Given the description of an element on the screen output the (x, y) to click on. 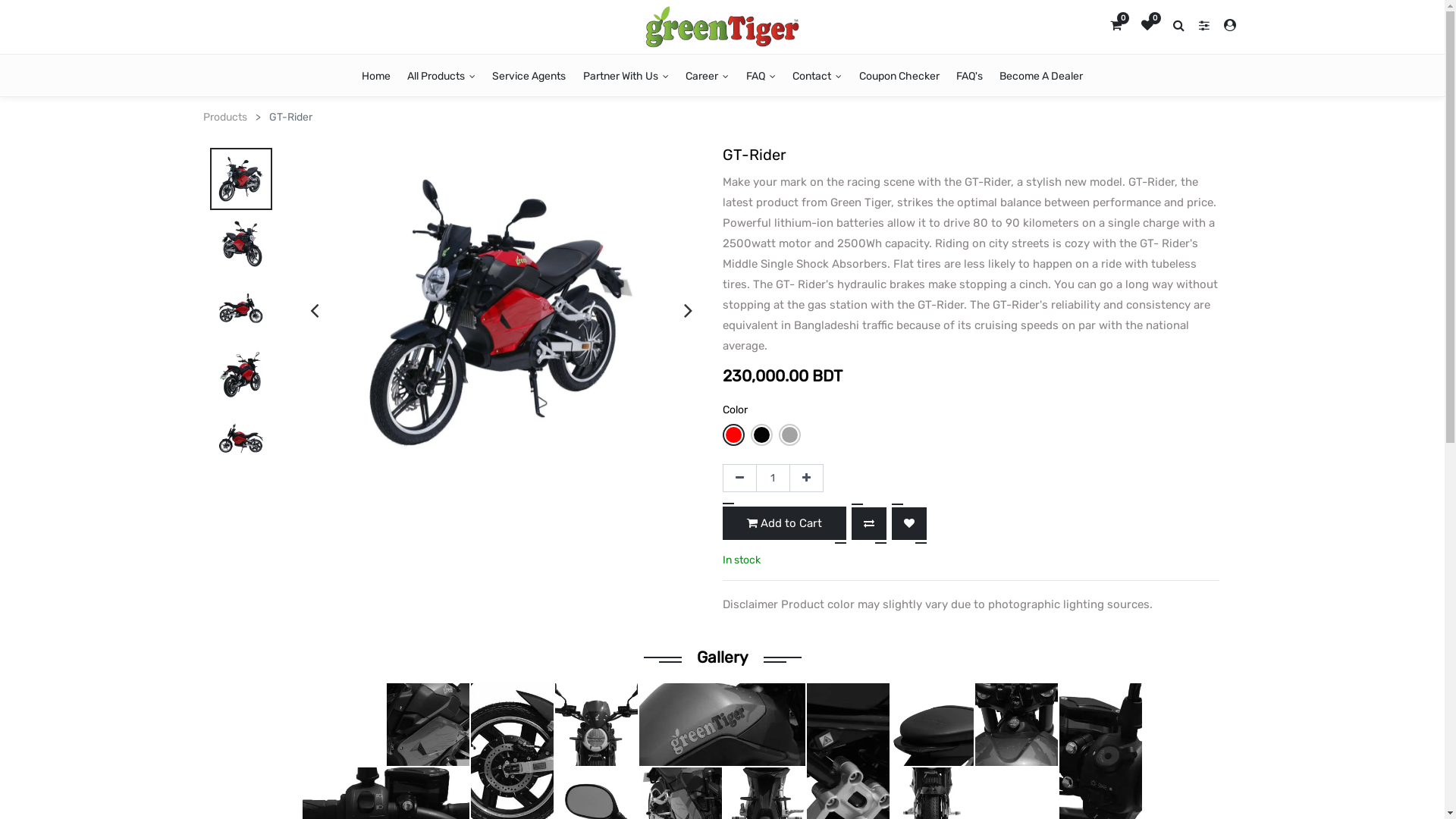
greenTiger Element type: hover (721, 26)
Add to Cart Element type: text (783, 522)
Add one Element type: hover (805, 478)
Partner With Us Element type: text (625, 75)
Products Element type: text (225, 116)
FAQ Element type: text (760, 75)
FAQ's Element type: text (969, 75)
0 Element type: text (1115, 24)
Contact Element type: text (817, 75)
0 Element type: text (1146, 24)
Service Agents Element type: text (528, 75)
Become A Dealer Element type: text (1041, 75)
Career Element type: text (707, 75)
Remove one Element type: hover (738, 478)
Coupon Checker Element type: text (898, 75)
